Given the description of an element on the screen output the (x, y) to click on. 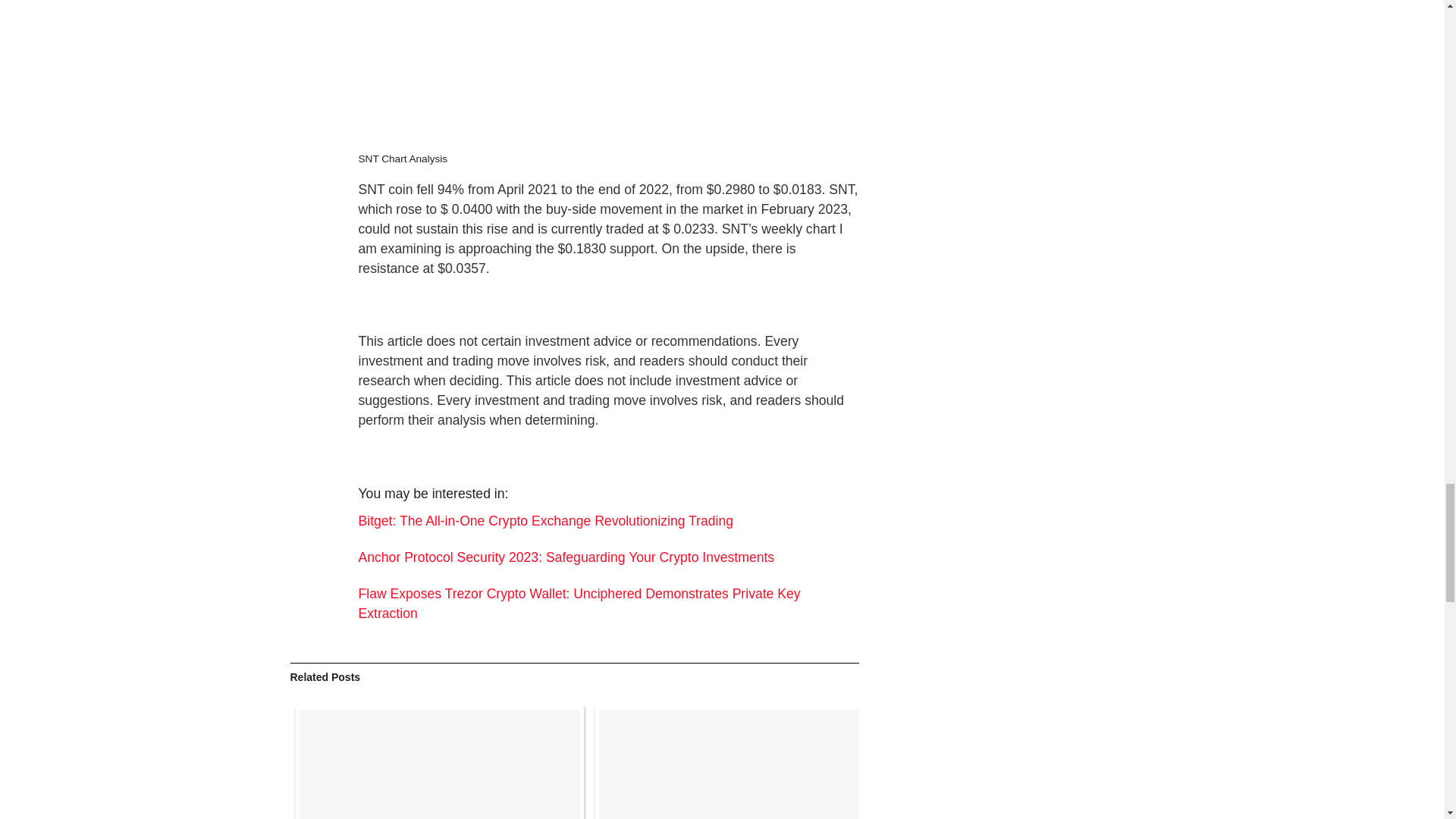
SNT - 724 Feed (608, 66)
